Given the description of an element on the screen output the (x, y) to click on. 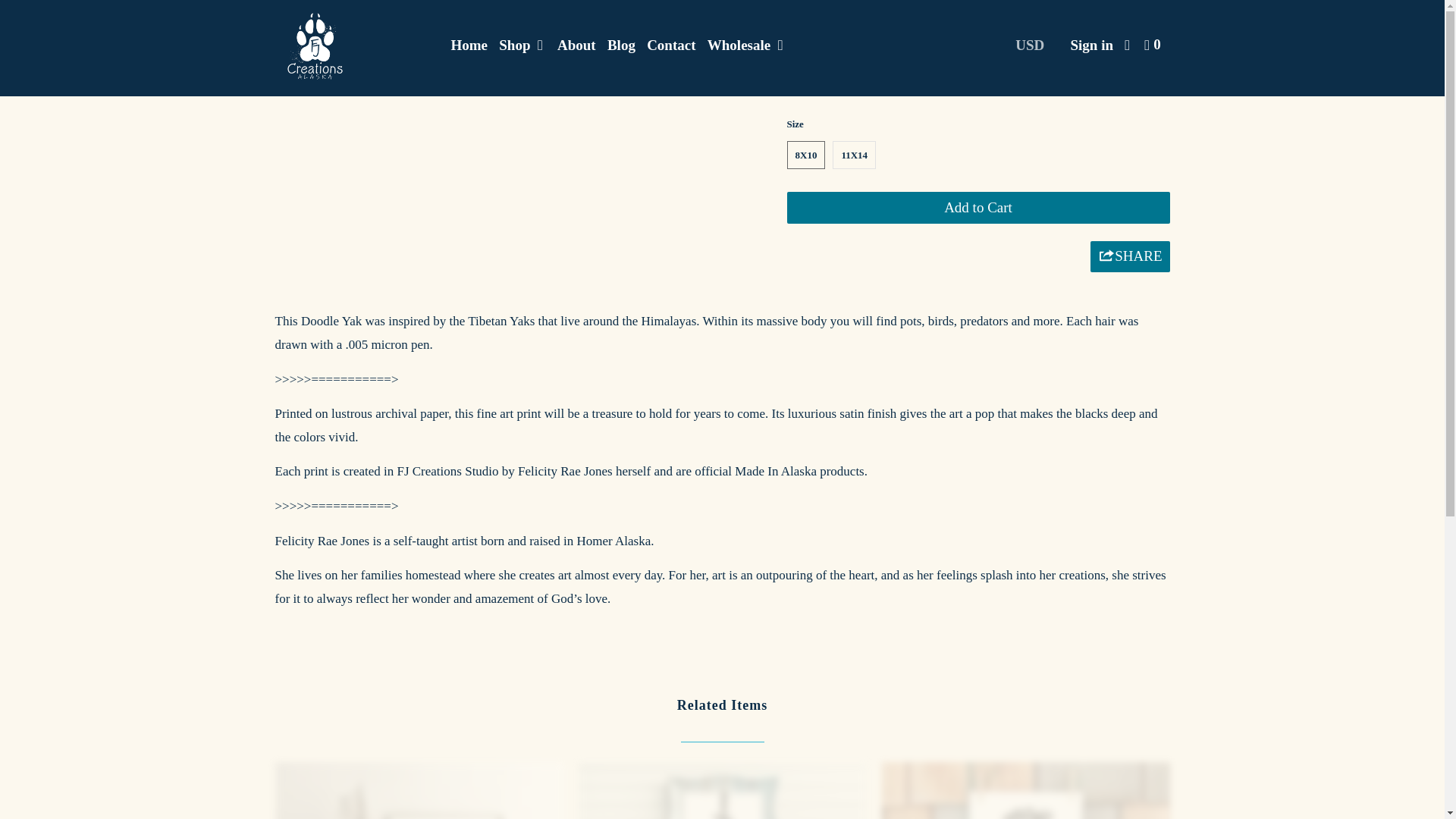
My Account  (1091, 44)
Doodle Yak - Fine Art Print (523, 27)
FJ Creations (352, 48)
